Given the description of an element on the screen output the (x, y) to click on. 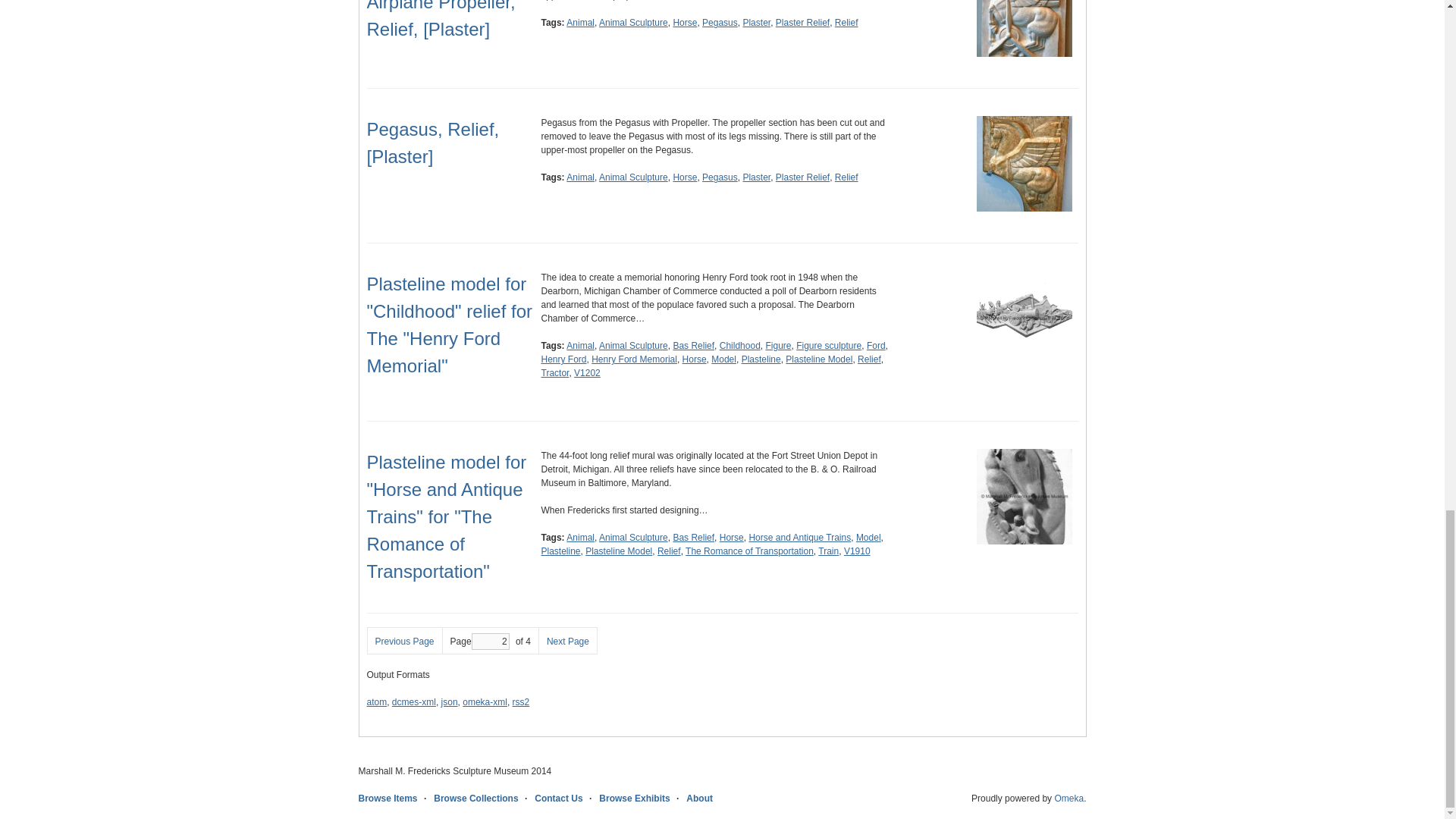
2 (490, 641)
